Given the description of an element on the screen output the (x, y) to click on. 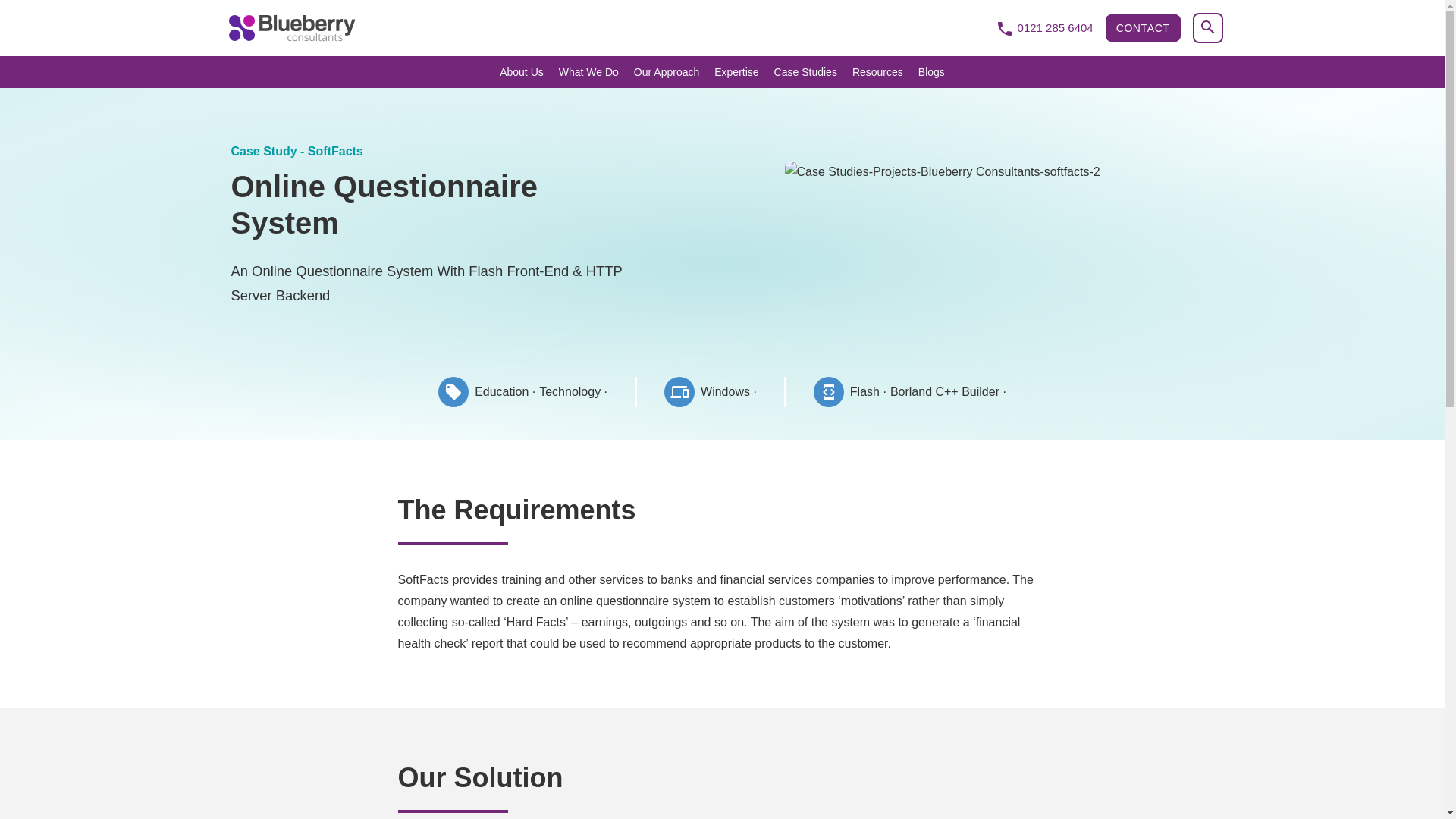
Contact Blueberry for Custom Software Development (1142, 27)
the Blueberry logotype (291, 27)
Technologies (908, 391)
0121 285 6404 (1044, 27)
CONTACT (1142, 27)
Platforms (709, 391)
Sectors (522, 391)
